Given the description of an element on the screen output the (x, y) to click on. 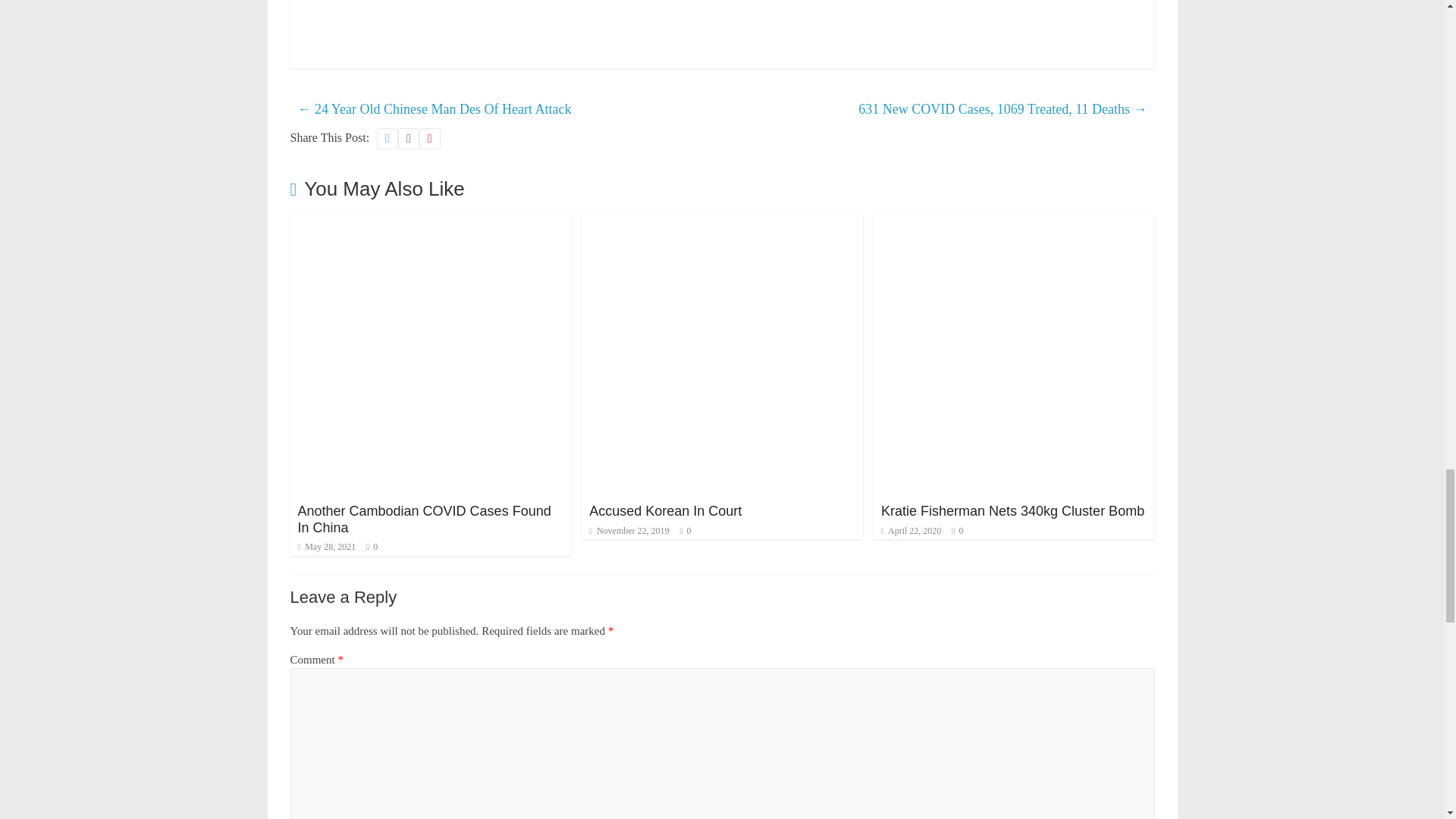
May 28, 2021 (326, 546)
1:00 pm (326, 546)
Another Cambodian COVID Cases Found In China (423, 519)
8:06 am (628, 530)
Accused Korean In Court (665, 510)
Accused Korean In Court (721, 223)
Another Cambodian COVID Cases Found In China (429, 223)
Another Cambodian COVID Cases Found In China (423, 519)
